Given the description of an element on the screen output the (x, y) to click on. 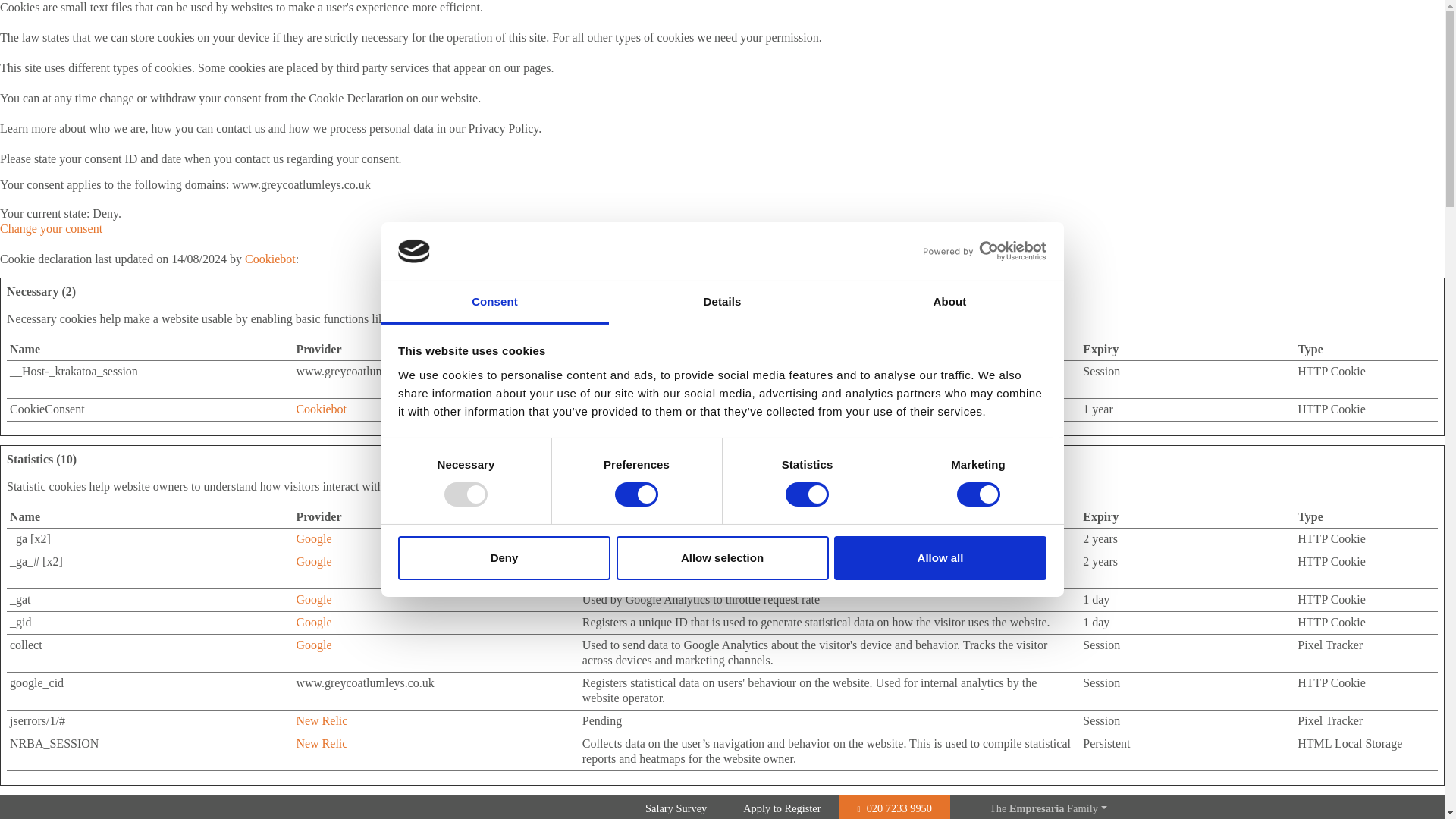
New Relic (321, 743)
Change your consent (50, 228)
Google's privacy policy (313, 621)
New Relic's privacy policy (321, 720)
New Relic (321, 720)
New Relic's privacy policy (321, 743)
Deny (503, 557)
About (948, 302)
Google (313, 599)
Google's privacy policy (313, 644)
